Given the description of an element on the screen output the (x, y) to click on. 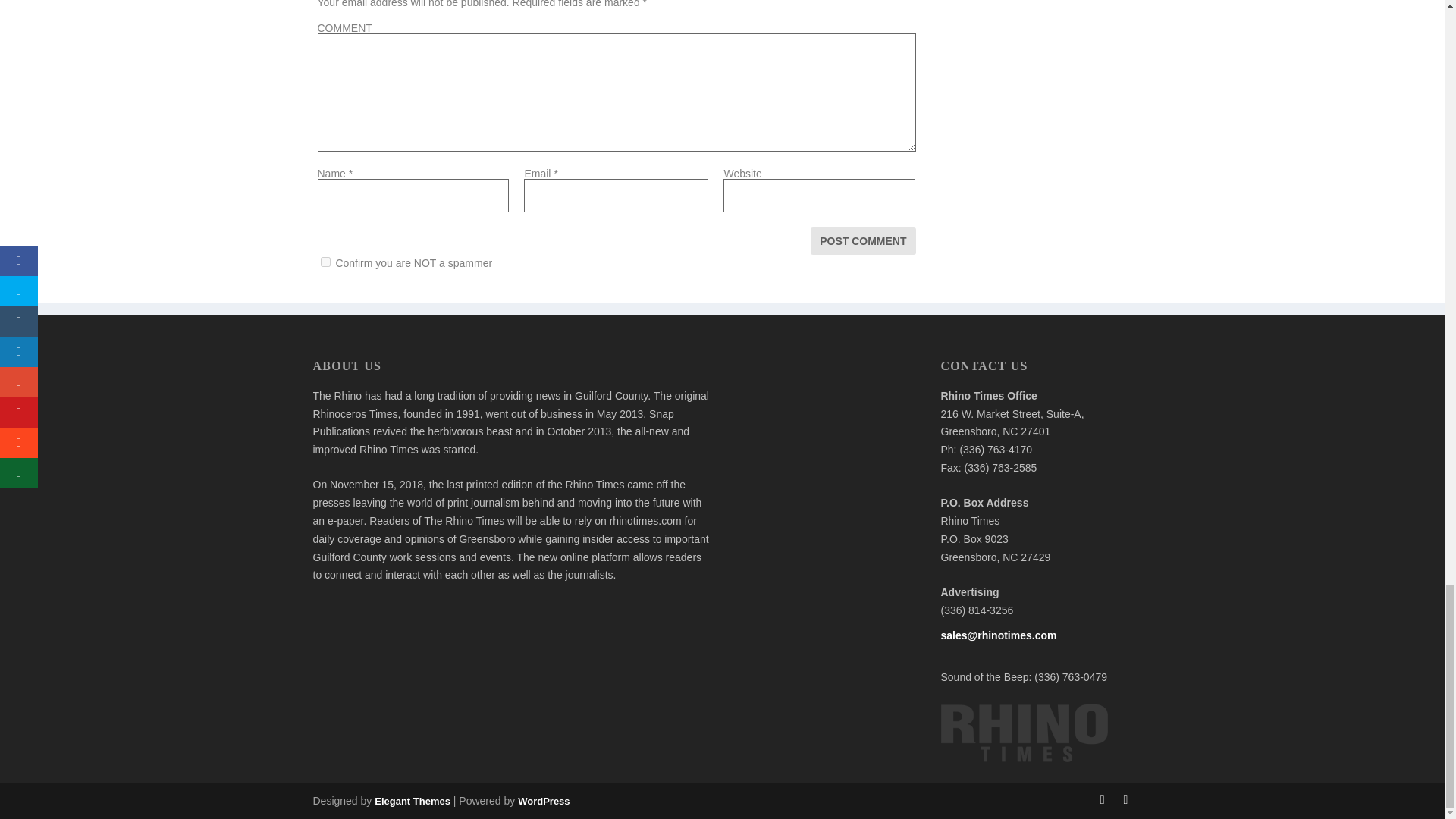
Premium WordPress Themes (411, 800)
Post Comment (862, 240)
on (325, 261)
